Given the description of an element on the screen output the (x, y) to click on. 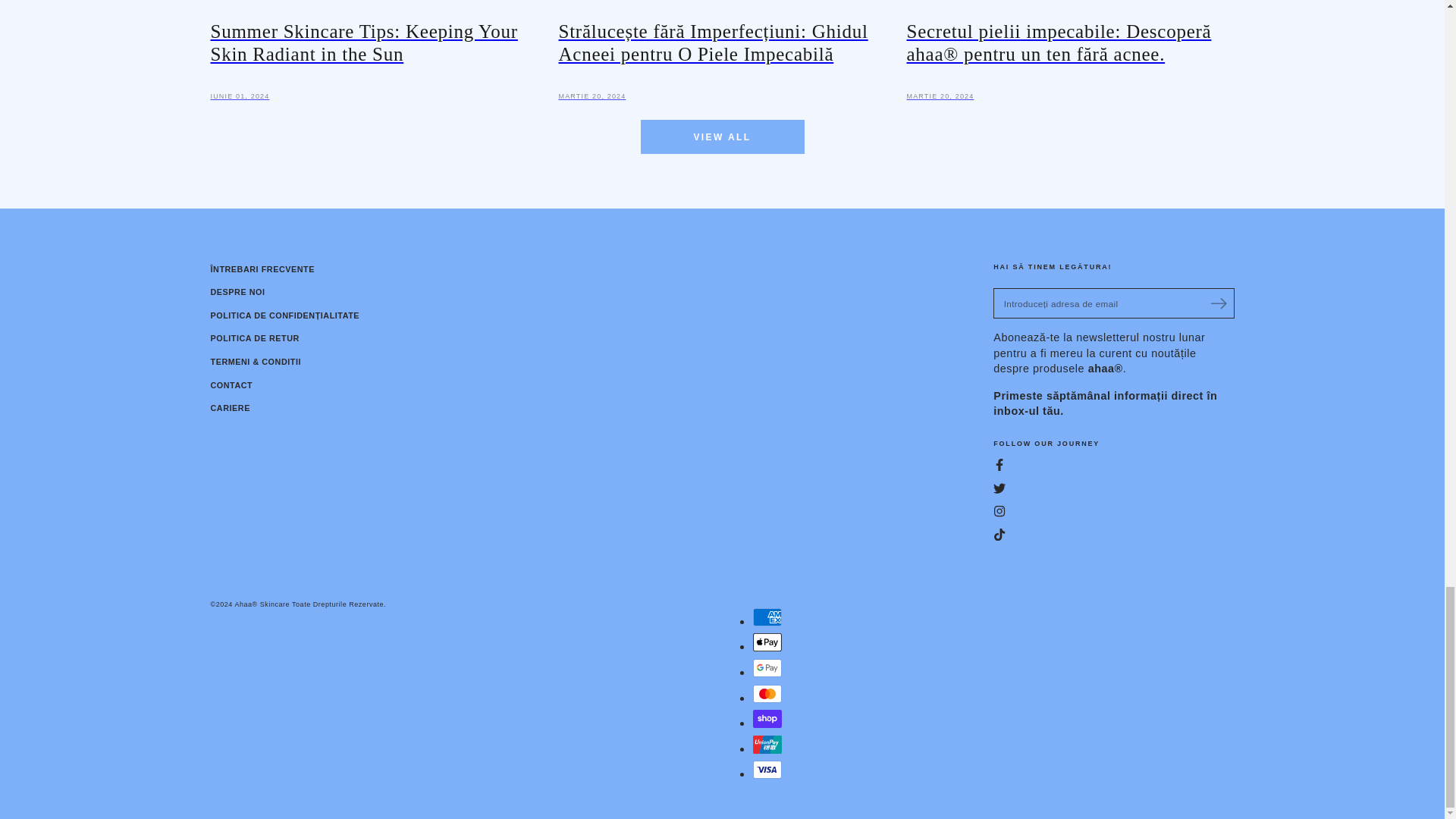
Shop Pay (766, 719)
Apple Pay (766, 642)
Union Pay (766, 744)
Google Pay (766, 668)
Mastercard (766, 693)
American Express (766, 617)
